Given the description of an element on the screen output the (x, y) to click on. 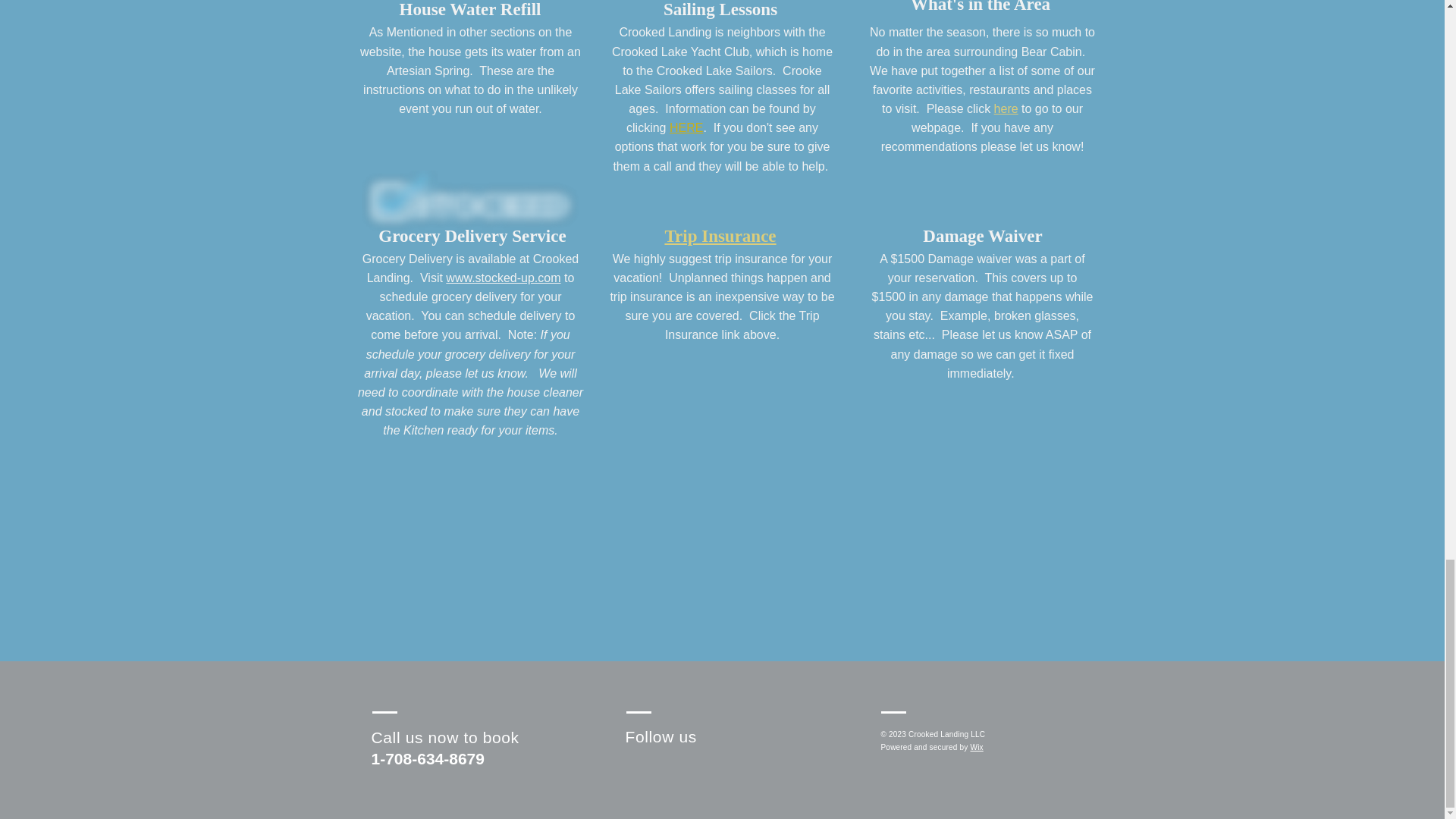
www.stocked-up.com (502, 277)
HERE (686, 127)
here (1005, 108)
Wix (977, 746)
Trip Insurance (719, 235)
